Given the description of an element on the screen output the (x, y) to click on. 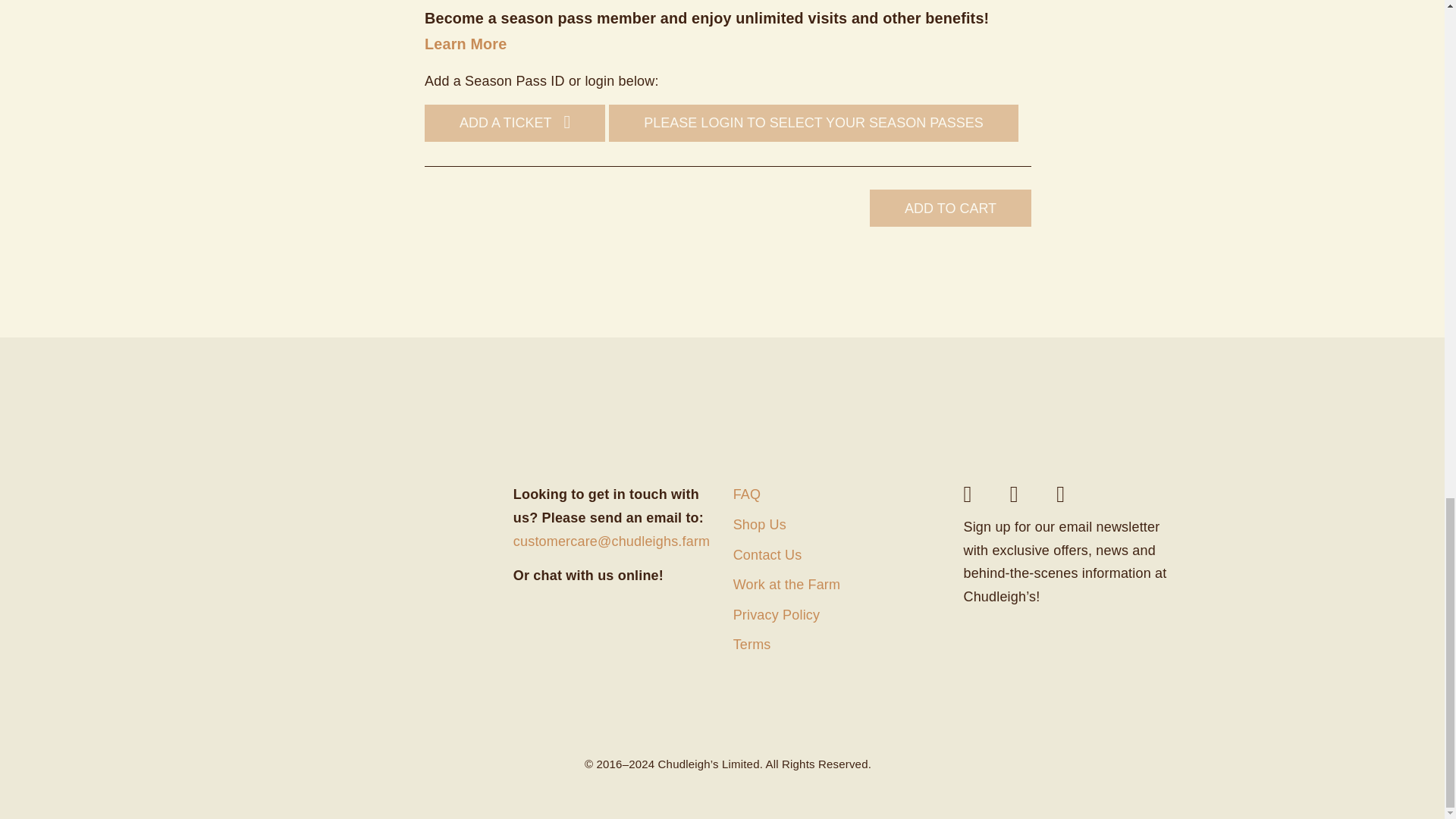
PLEASE LOGIN TO SELECT YOUR SEASON PASSES (812, 122)
FAQ (837, 498)
Work at the Farm (837, 588)
Learn More (465, 44)
Privacy Policy (837, 618)
Shop Us (837, 528)
Terms (837, 648)
ADD A TICKET (515, 122)
Contact Us (837, 558)
ADD TO CART (949, 207)
